Given the description of an element on the screen output the (x, y) to click on. 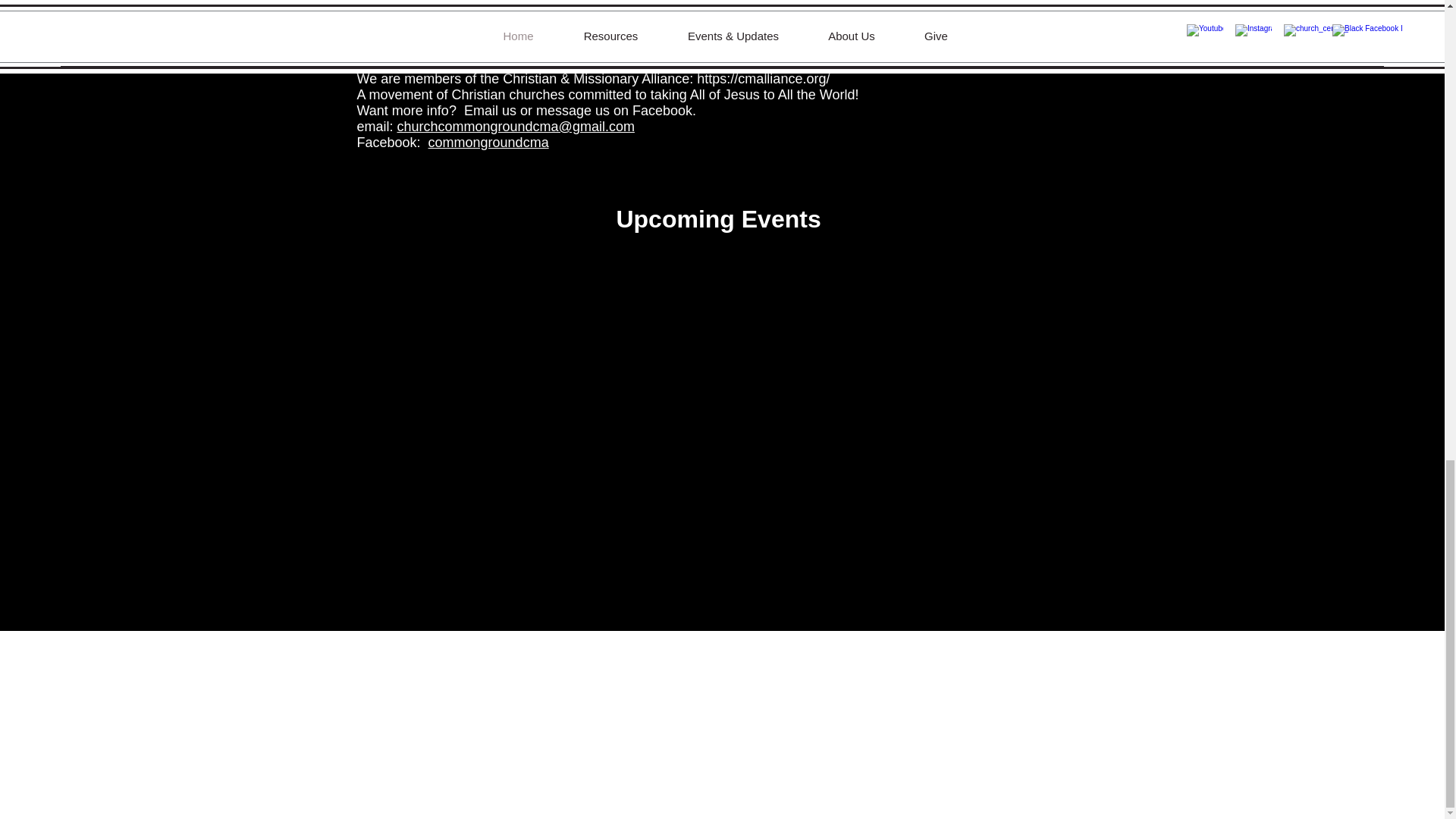
commongroundcma (488, 142)
